Given the description of an element on the screen output the (x, y) to click on. 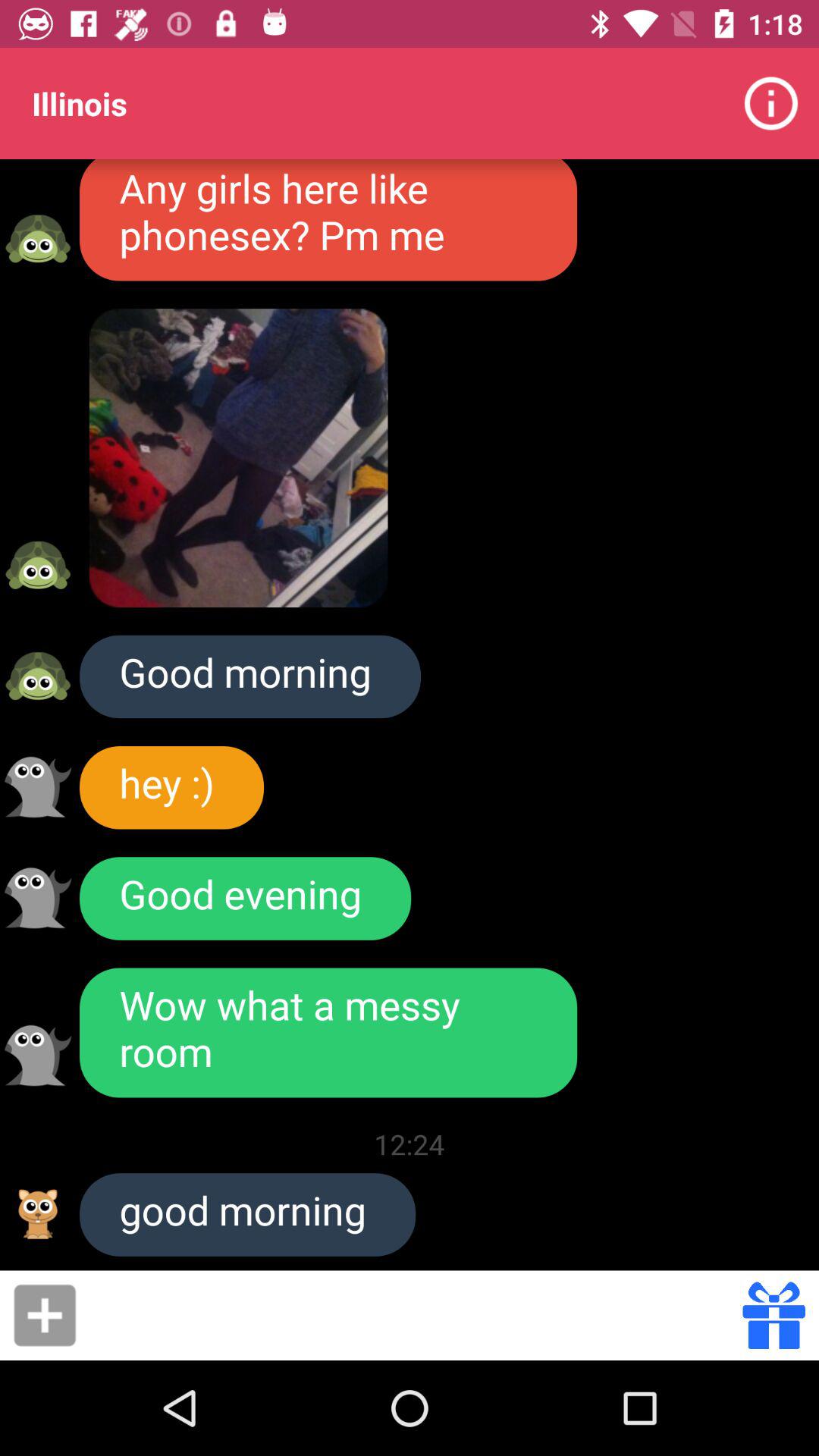
enter message (414, 1315)
